Given the description of an element on the screen output the (x, y) to click on. 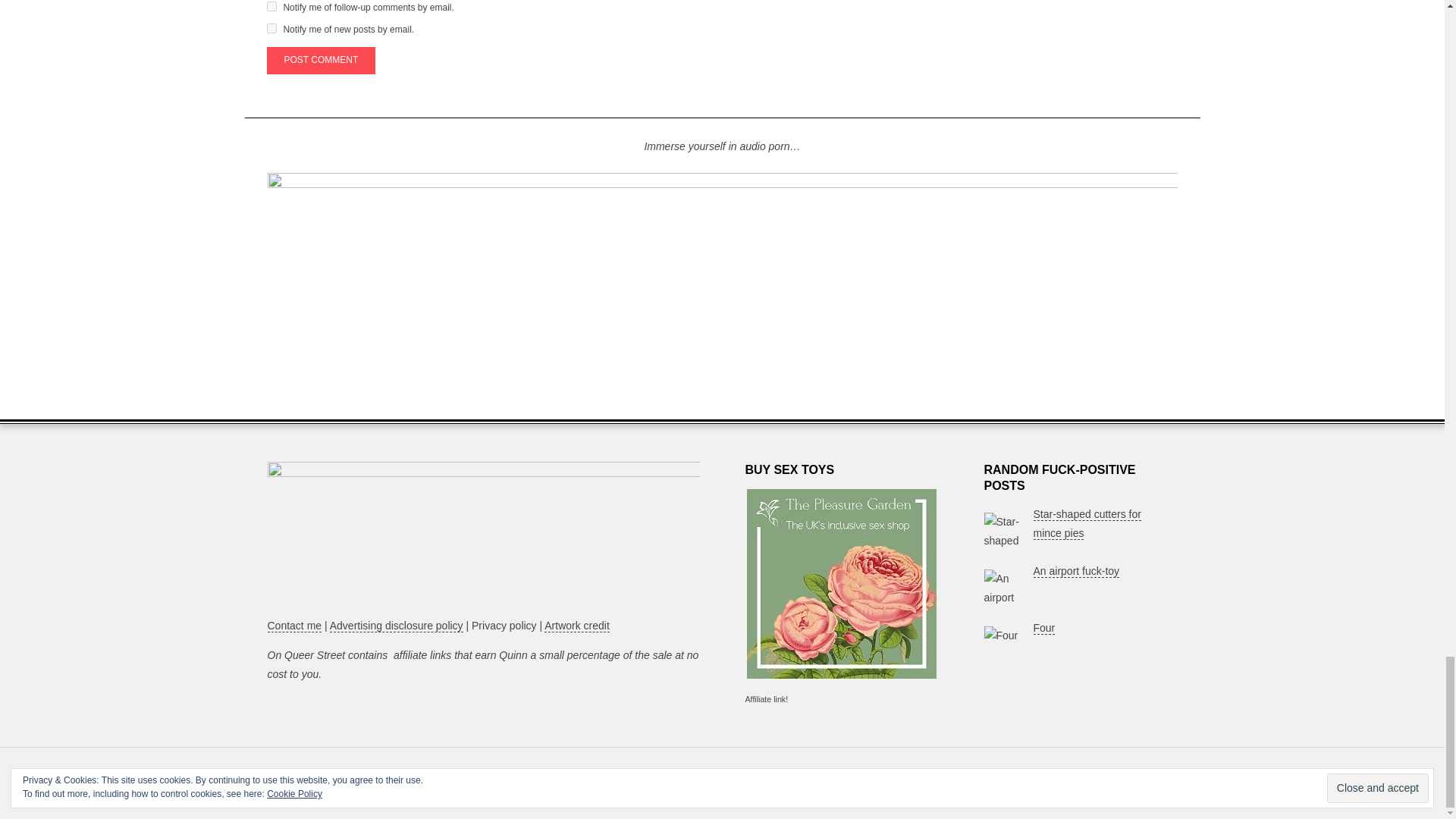
Post Comment (320, 60)
subscribe (271, 28)
subscribe (271, 6)
